Given the description of an element on the screen output the (x, y) to click on. 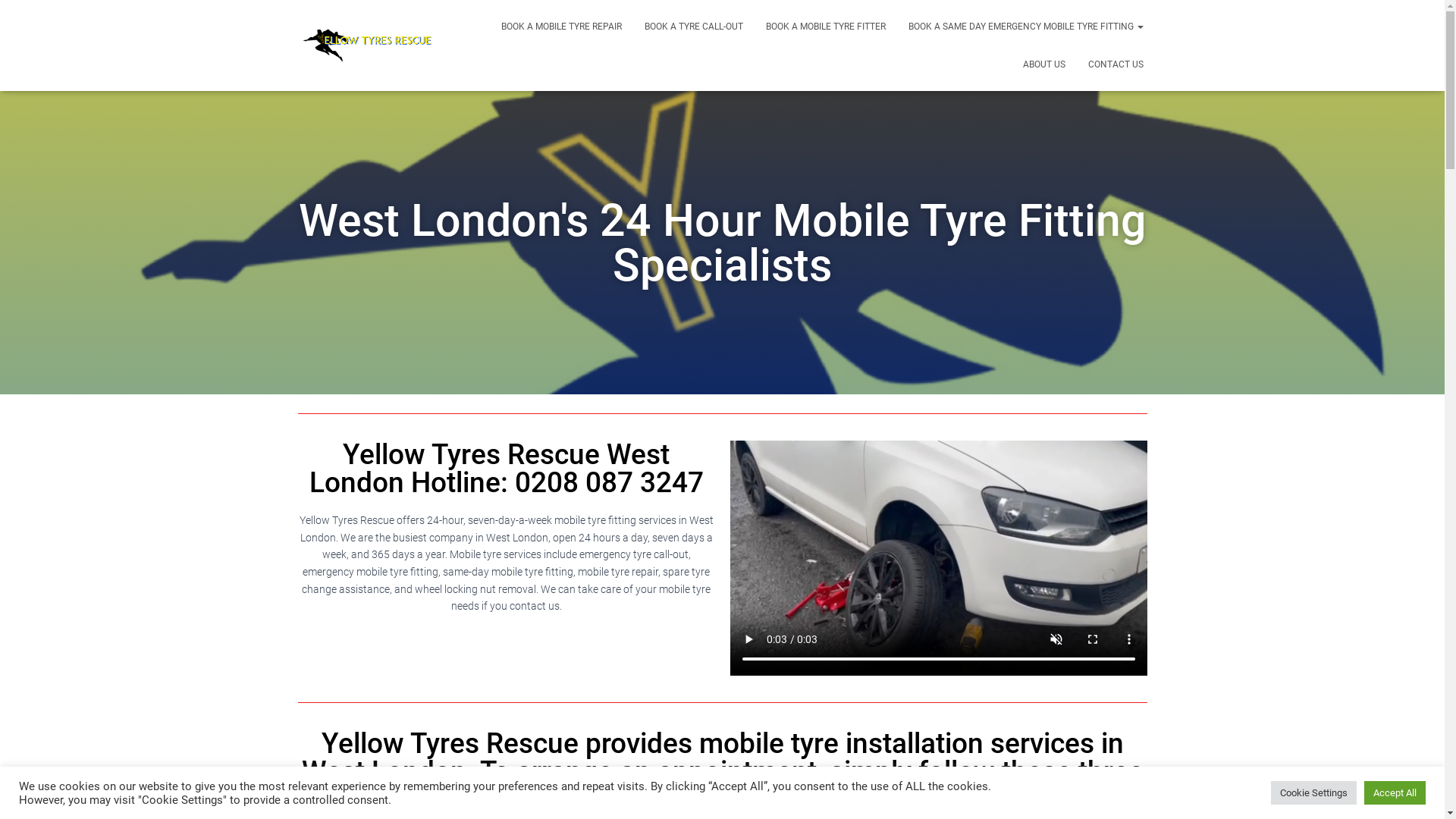
Cookie Settings Element type: text (1313, 792)
BOOK A SAME DAY EMERGENCY MOBILE TYRE FITTING Element type: text (1025, 26)
Yellow Tyres Rescue Mobile Tyre Fitters Element type: hover (367, 45)
Accept All Element type: text (1394, 792)
BOOK A MOBILE TYRE REPAIR Element type: text (561, 26)
ABOUT US Element type: text (1043, 64)
BOOK A TYRE CALL-OUT Element type: text (692, 26)
CONTACT US Element type: text (1115, 64)
BOOK A MOBILE TYRE FITTER Element type: text (824, 26)
